Given the description of an element on the screen output the (x, y) to click on. 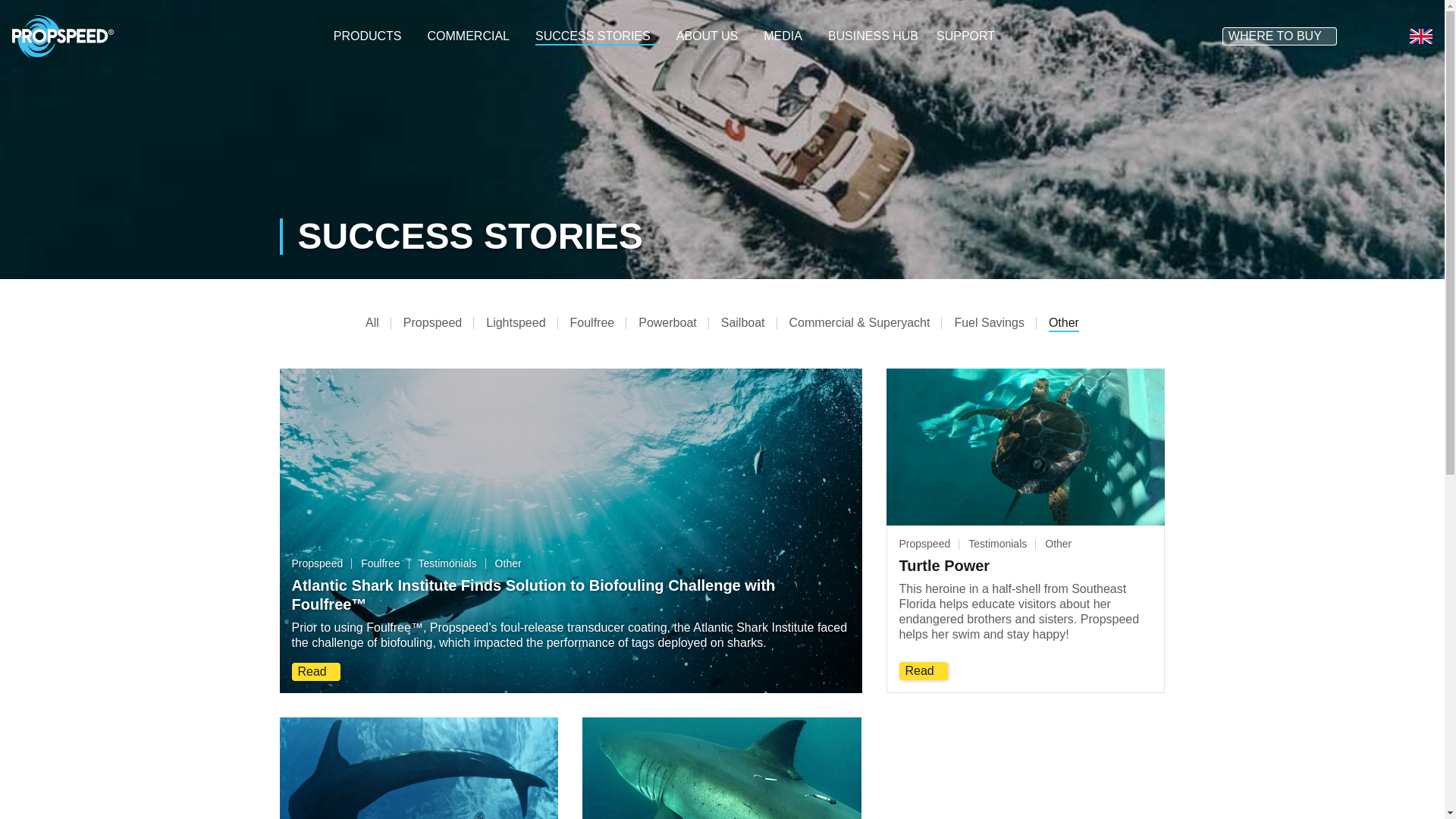
Return to Propspeed home page (62, 34)
COMMERCIAL (472, 36)
ABOUT US (711, 36)
PRODUCTS (371, 36)
SUCCESS STORIES (596, 36)
